Given the description of an element on the screen output the (x, y) to click on. 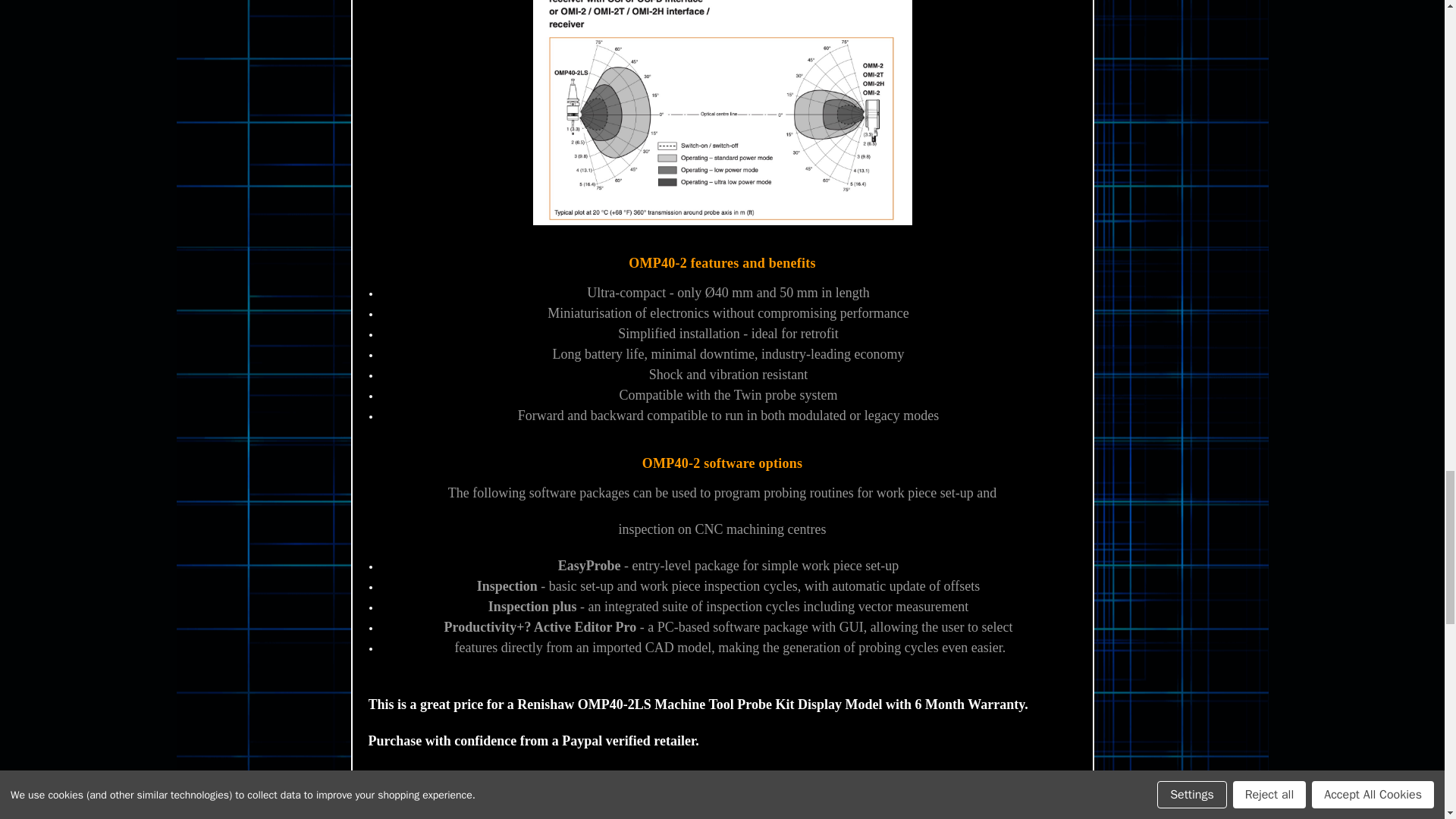
renishaw-omp40-2ls-machine-tool-probe-data-sheet-.jpeg (721, 112)
